Given the description of an element on the screen output the (x, y) to click on. 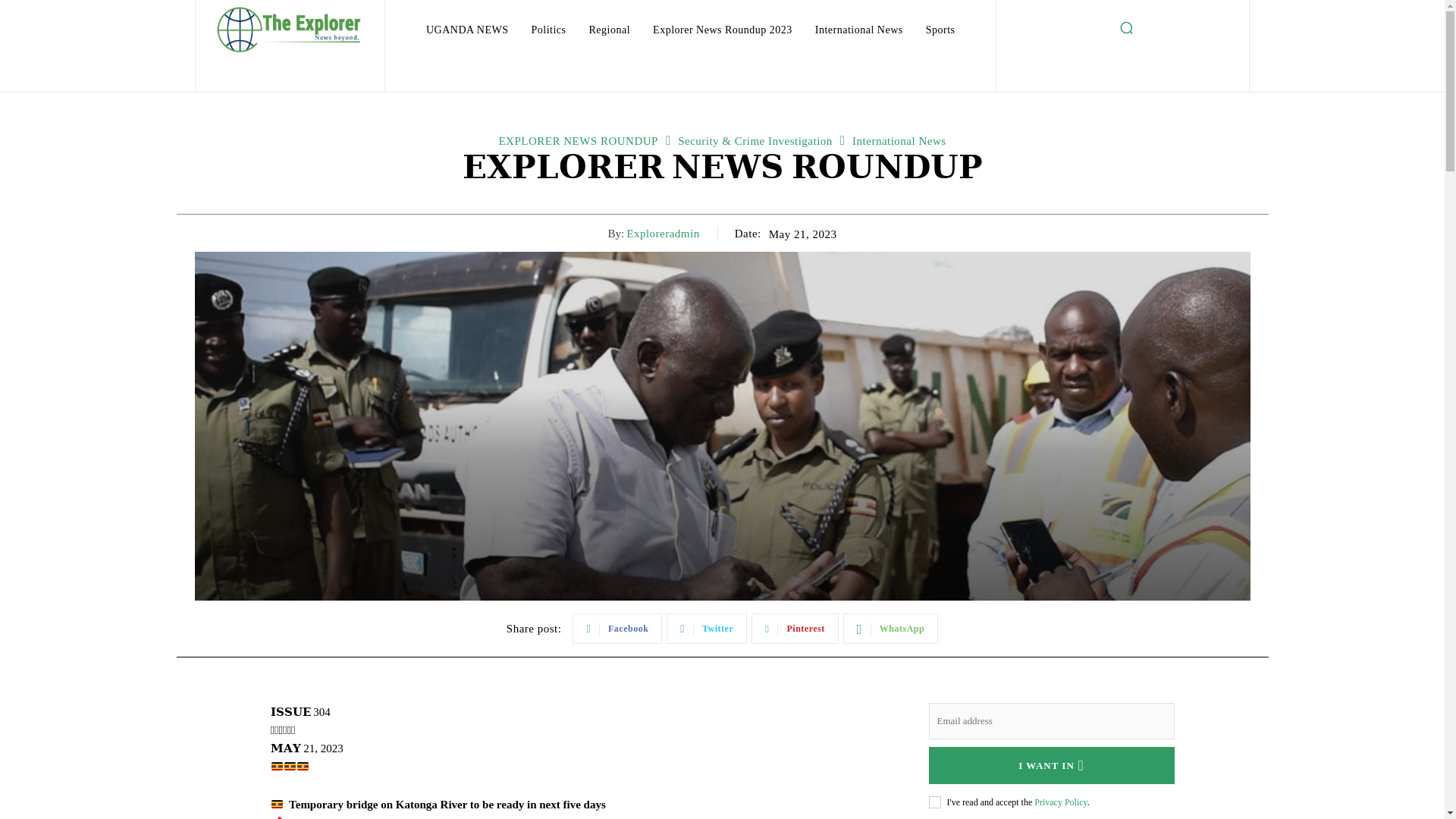
Pinterest (794, 628)
UGANDA NEWS (467, 30)
Explorer News Roundup 2023 (722, 30)
WhatsApp (890, 628)
Regional (609, 30)
Twitter (706, 628)
Facebook (617, 628)
International News (859, 30)
